Given the description of an element on the screen output the (x, y) to click on. 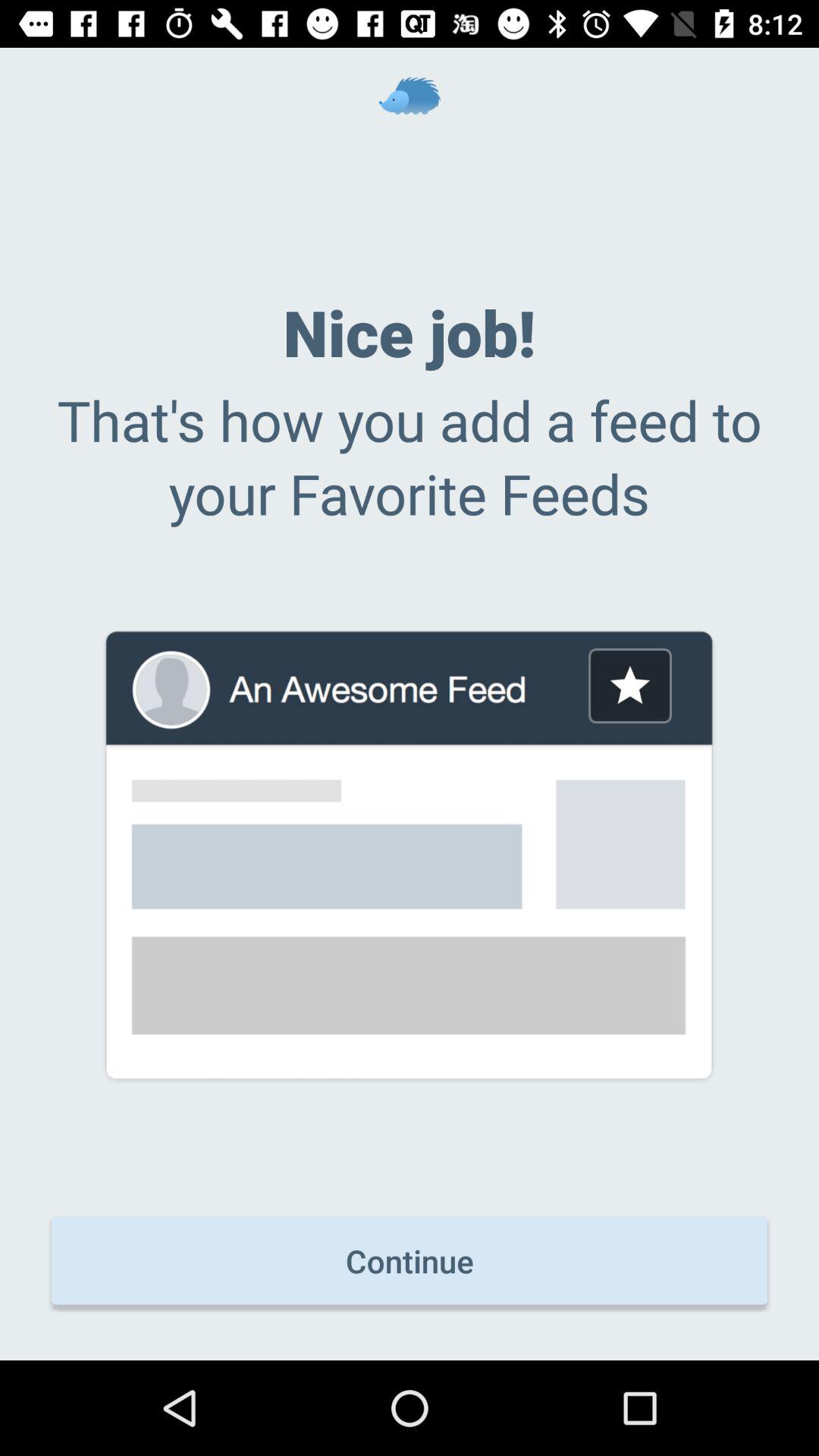
add item to fee (629, 685)
